Given the description of an element on the screen output the (x, y) to click on. 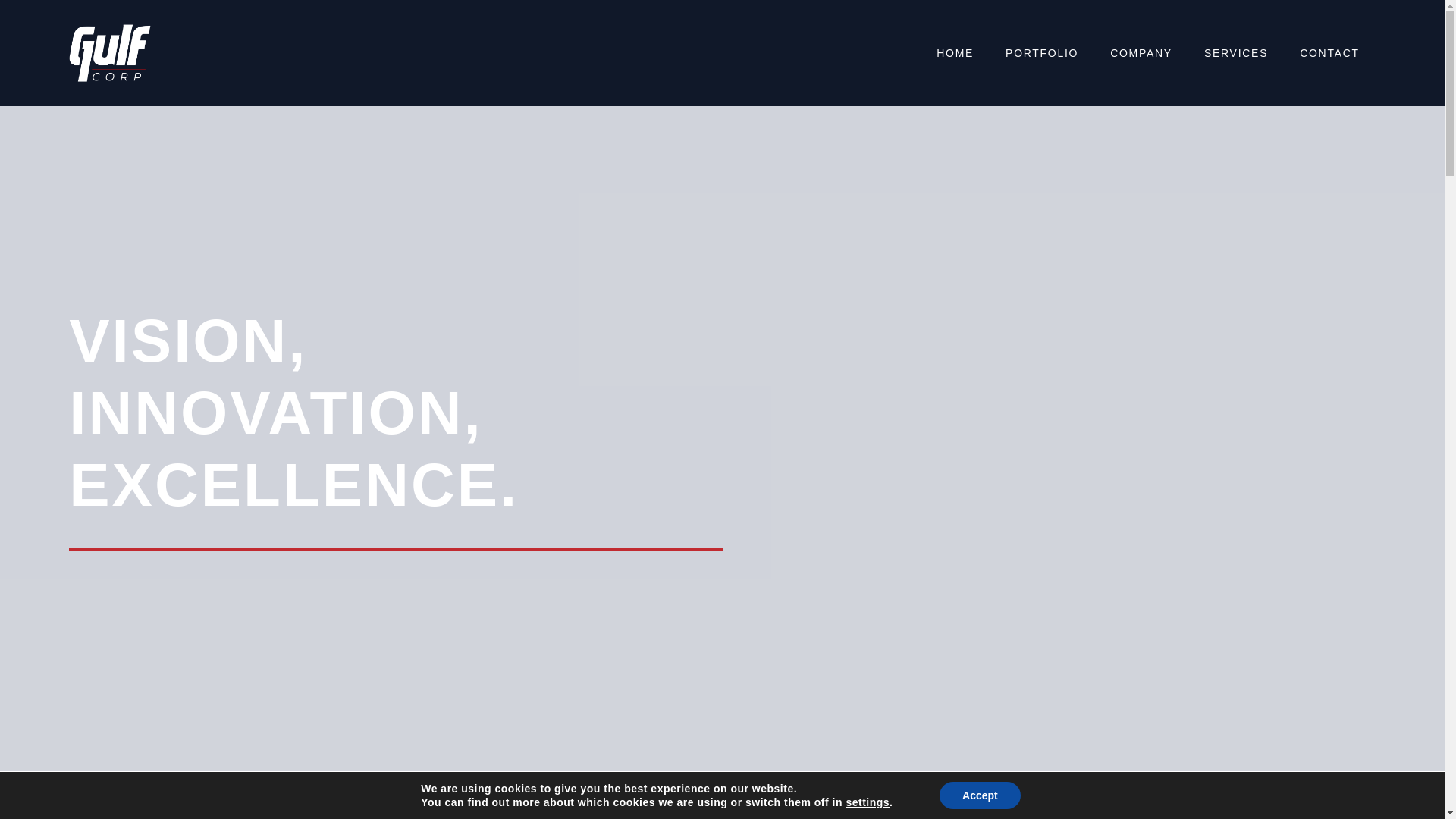
Accept (979, 795)
HOME (955, 52)
SERVICES (1236, 52)
PORTFOLIO (1042, 52)
COMPANY (1140, 52)
CONTACT (1329, 52)
settings (867, 802)
